Given the description of an element on the screen output the (x, y) to click on. 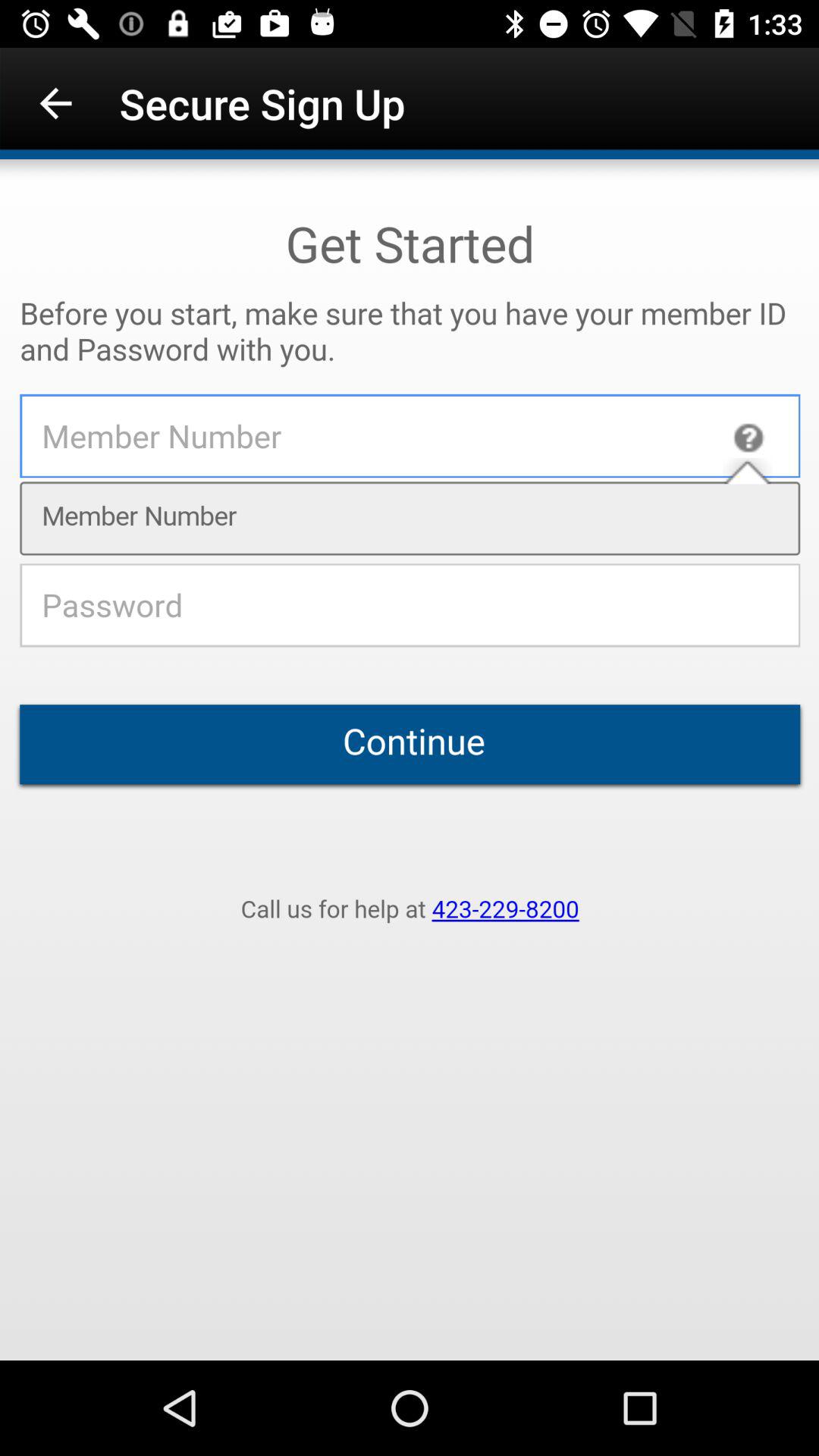
join page (409, 759)
